Given the description of an element on the screen output the (x, y) to click on. 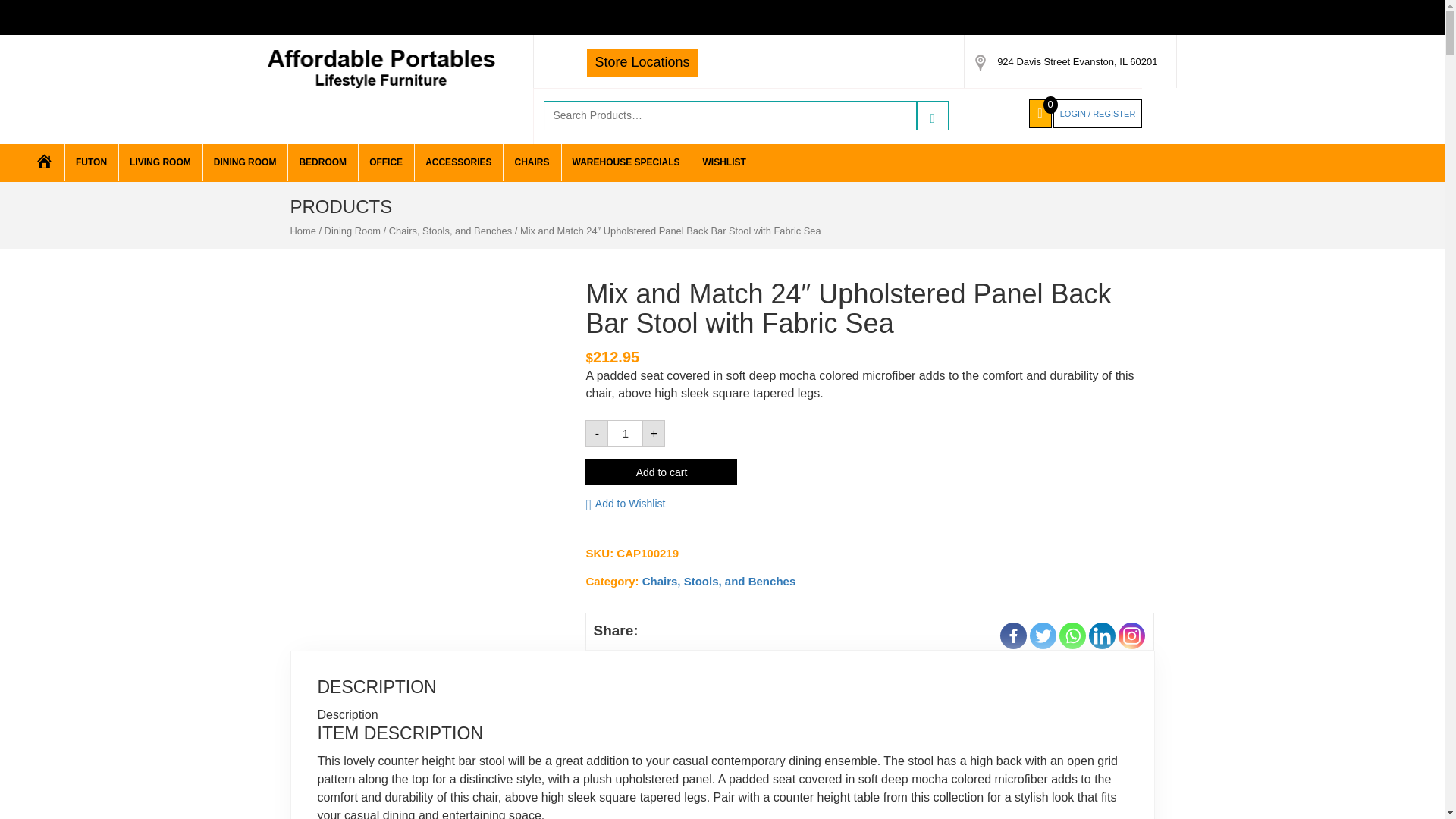
Store Locations (641, 62)
Whatsapp (1072, 635)
Instagram (1131, 635)
Twitter (1043, 635)
LinkedIn (1102, 635)
1 (625, 433)
FUTON (90, 162)
Qty (625, 433)
924 Davis Street Evanston, IL 60201 (1077, 61)
Search for: (729, 115)
Search (933, 115)
Facebook (1013, 635)
HOME (43, 162)
LIVING ROOM (159, 162)
